Given the description of an element on the screen output the (x, y) to click on. 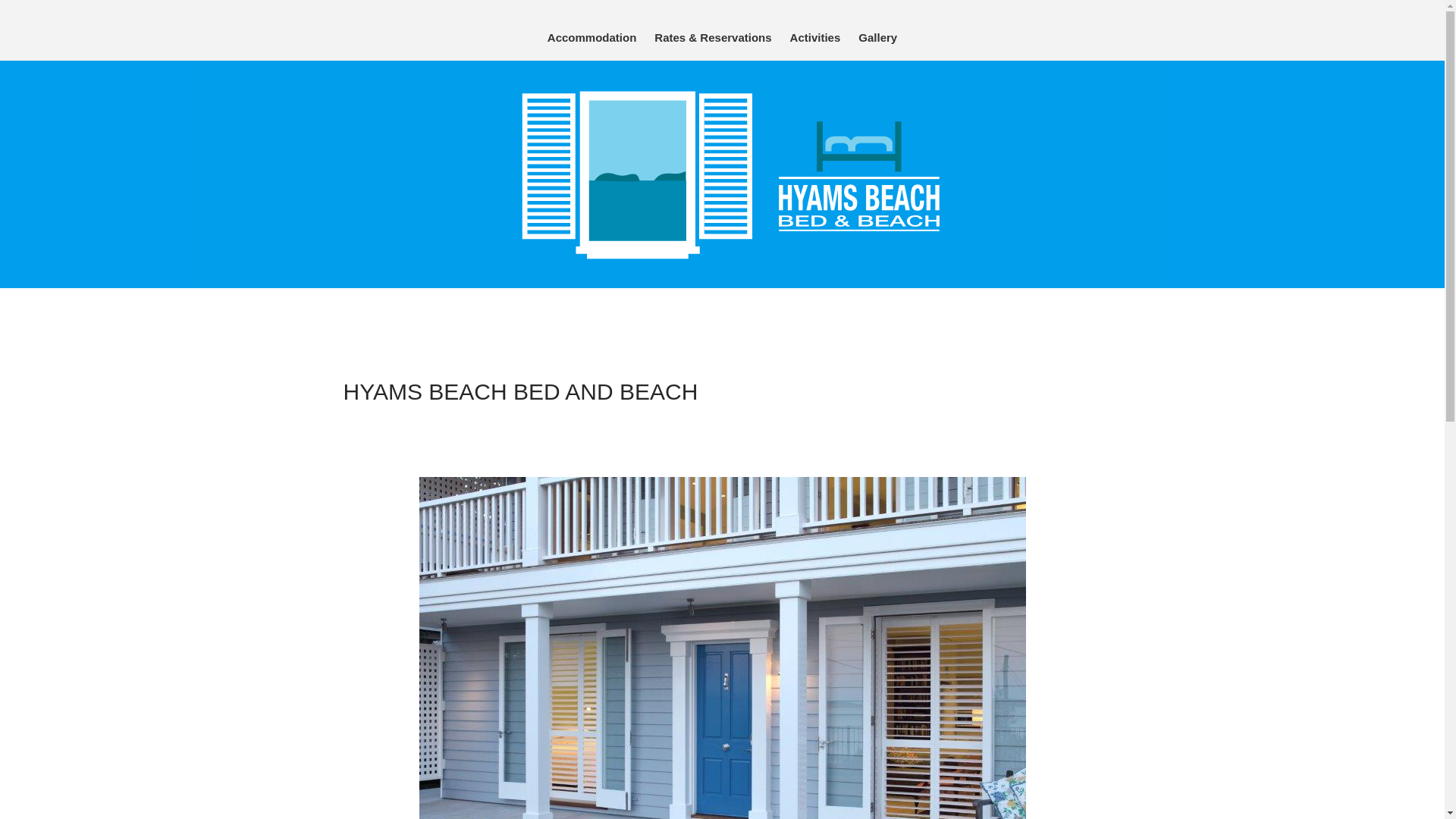
Accommodation Element type: text (591, 37)
Rates & Reservations Element type: text (712, 37)
Official Hyams Beach Bed and Beach Website Element type: text (870, 24)
Activities Element type: text (815, 37)
Gallery Element type: text (877, 37)
